Given the description of an element on the screen output the (x, y) to click on. 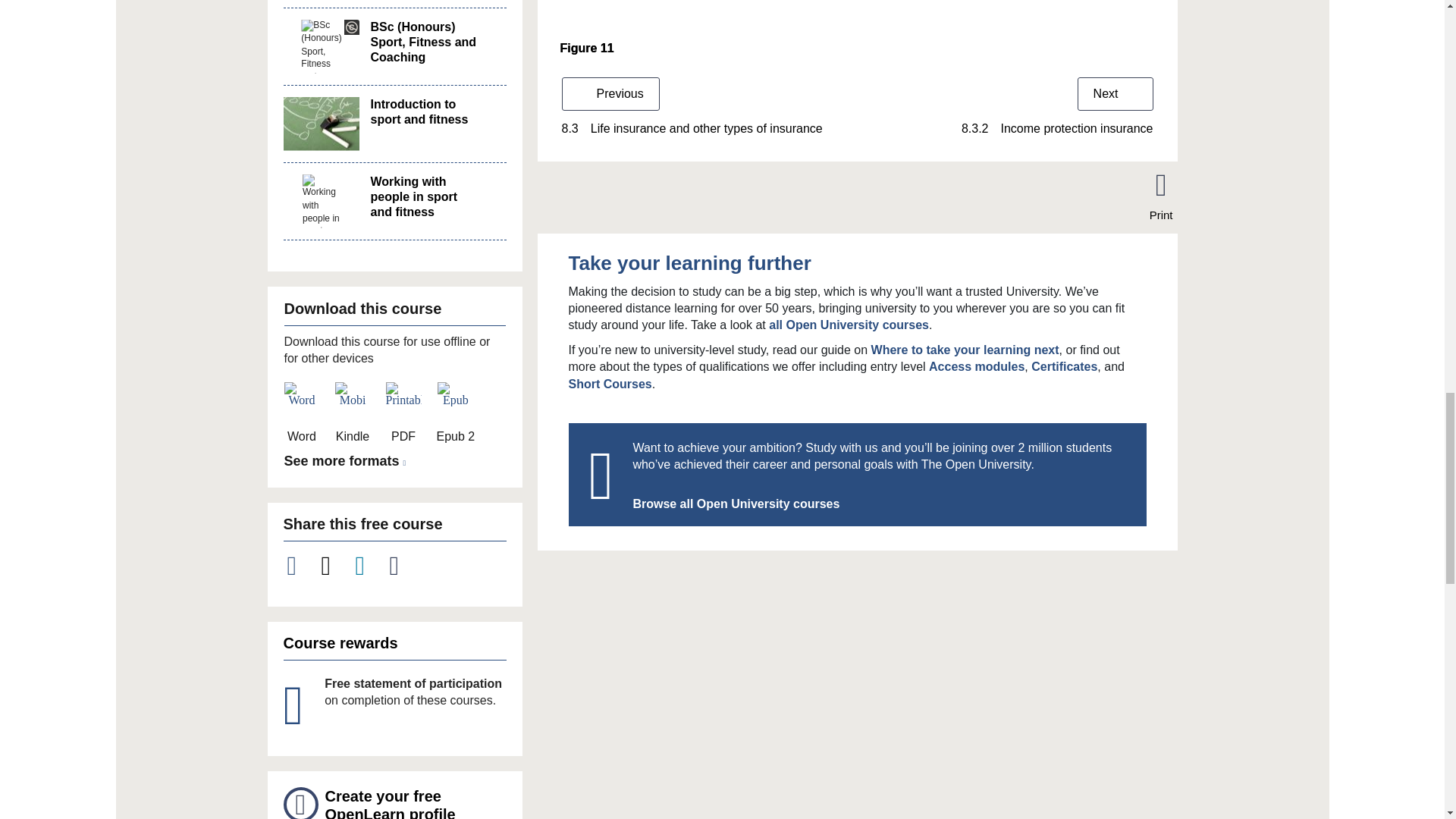
See more formats (347, 461)
Share via Email (403, 565)
Share on Facebook (299, 565)
Share on Twitter (334, 565)
Share on LinkedIn (368, 565)
